Given the description of an element on the screen output the (x, y) to click on. 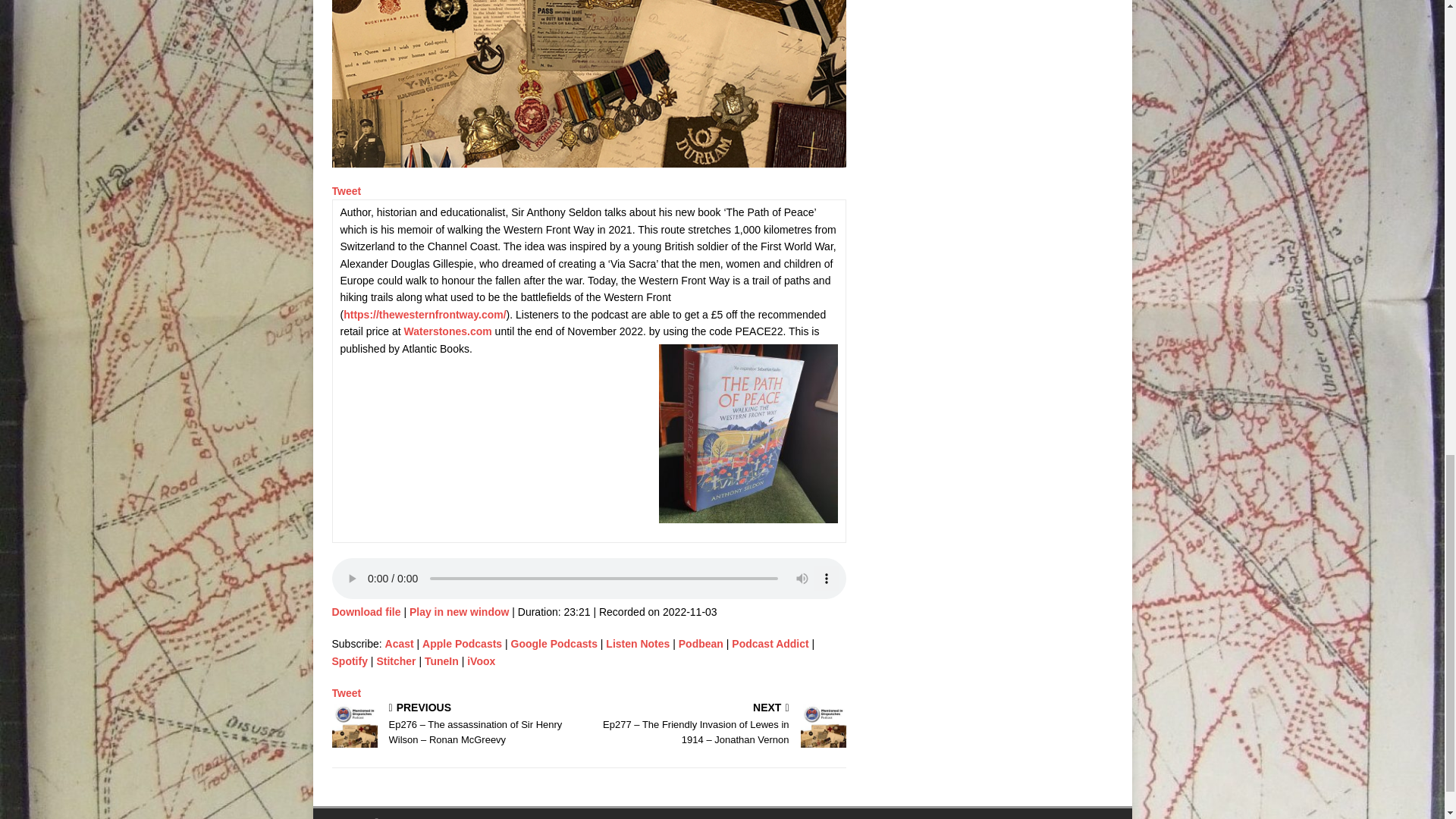
Podcast Addict (770, 644)
Apple Podcasts (462, 644)
Podbean (700, 644)
Spotify (349, 661)
Listen Notes (637, 644)
Google Podcasts (553, 644)
Acast (399, 644)
